Given the description of an element on the screen output the (x, y) to click on. 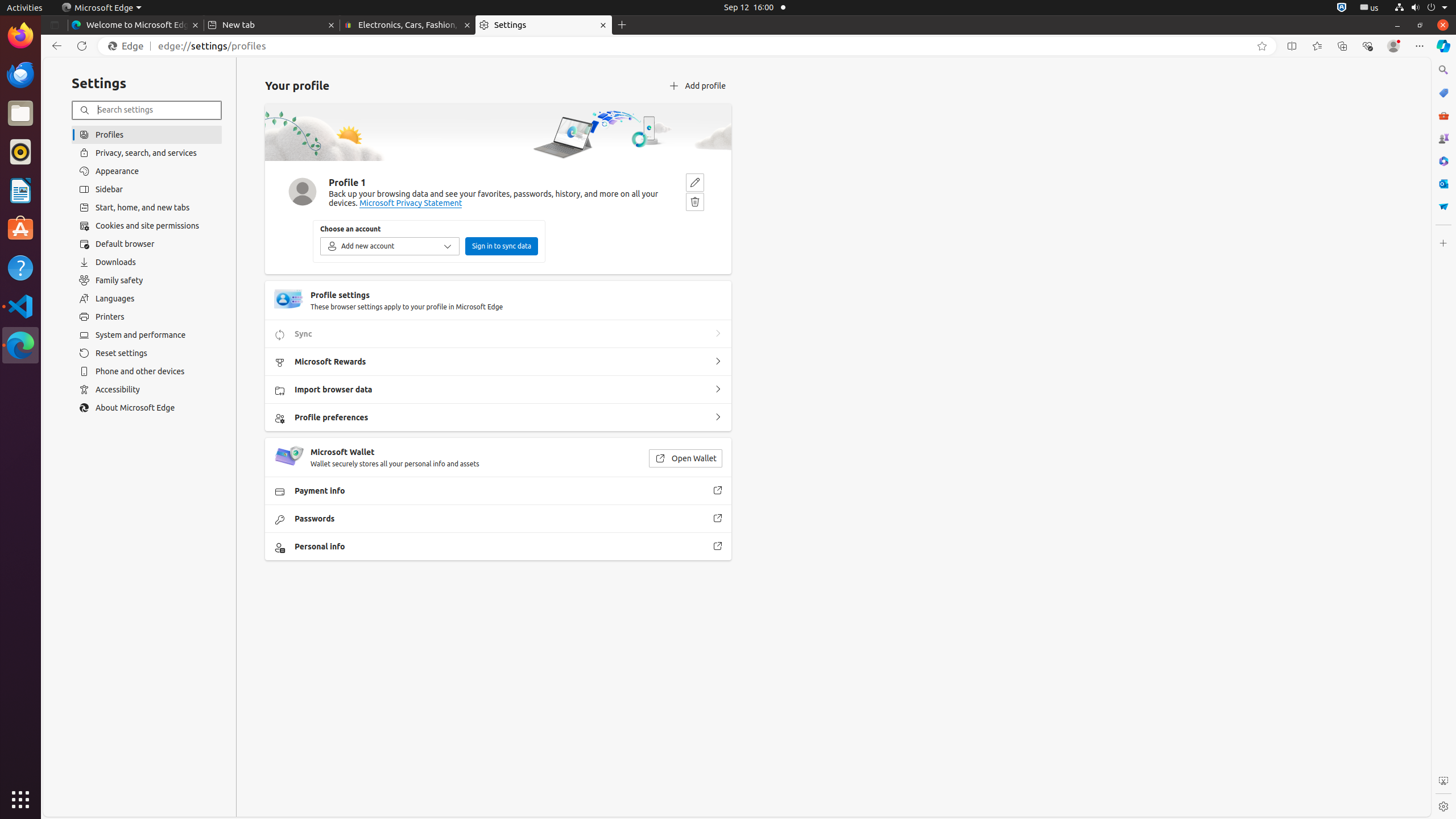
Printers Element type: tree-item (146, 316)
Microsoft Edge Element type: push-button (20, 344)
Add new account Element type: combo-box (389, 246)
Add this page to favorites (Ctrl+D) Element type: push-button (1261, 46)
Collections Element type: push-button (1341, 45)
